Given the description of an element on the screen output the (x, y) to click on. 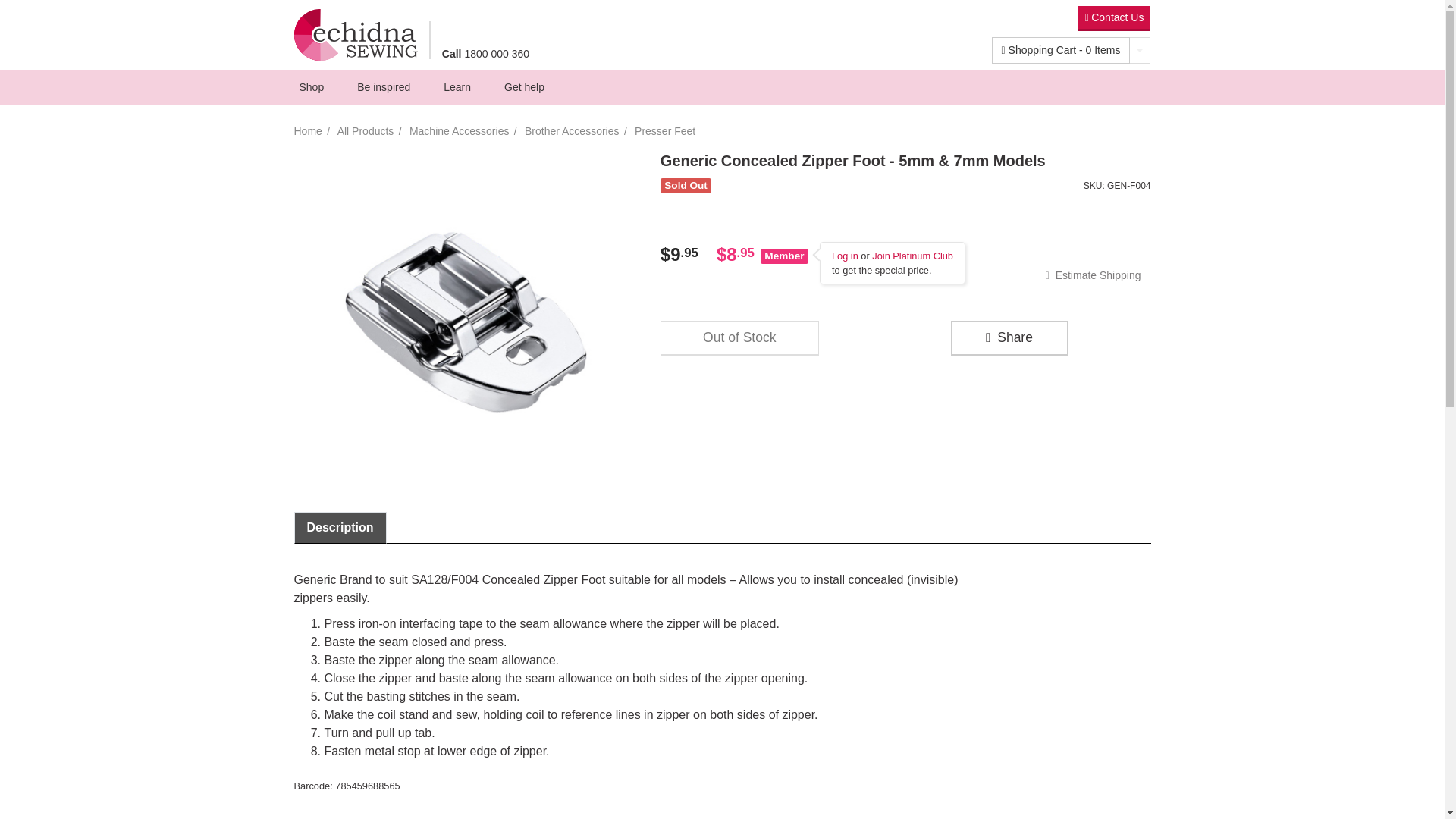
Contact Us (1113, 18)
Shopping Cart - 0 Items (1061, 49)
Call 1800 000 360 (485, 52)
Echidna Sewing (355, 34)
